Given the description of an element on the screen output the (x, y) to click on. 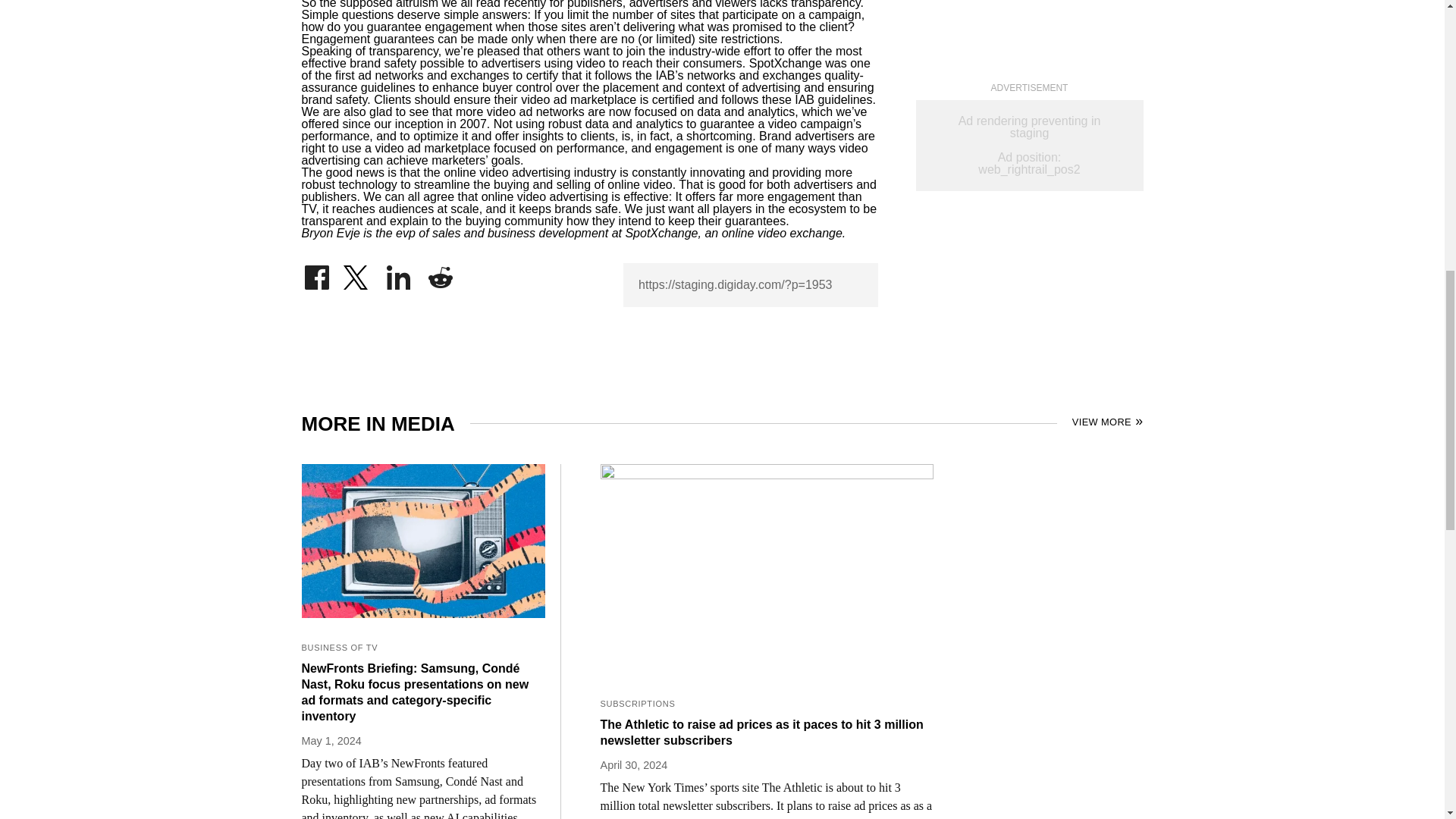
Share on LinkedIn (398, 273)
Share on Facebook (316, 273)
Share on Twitter (357, 273)
Share on Reddit (440, 273)
